Given the description of an element on the screen output the (x, y) to click on. 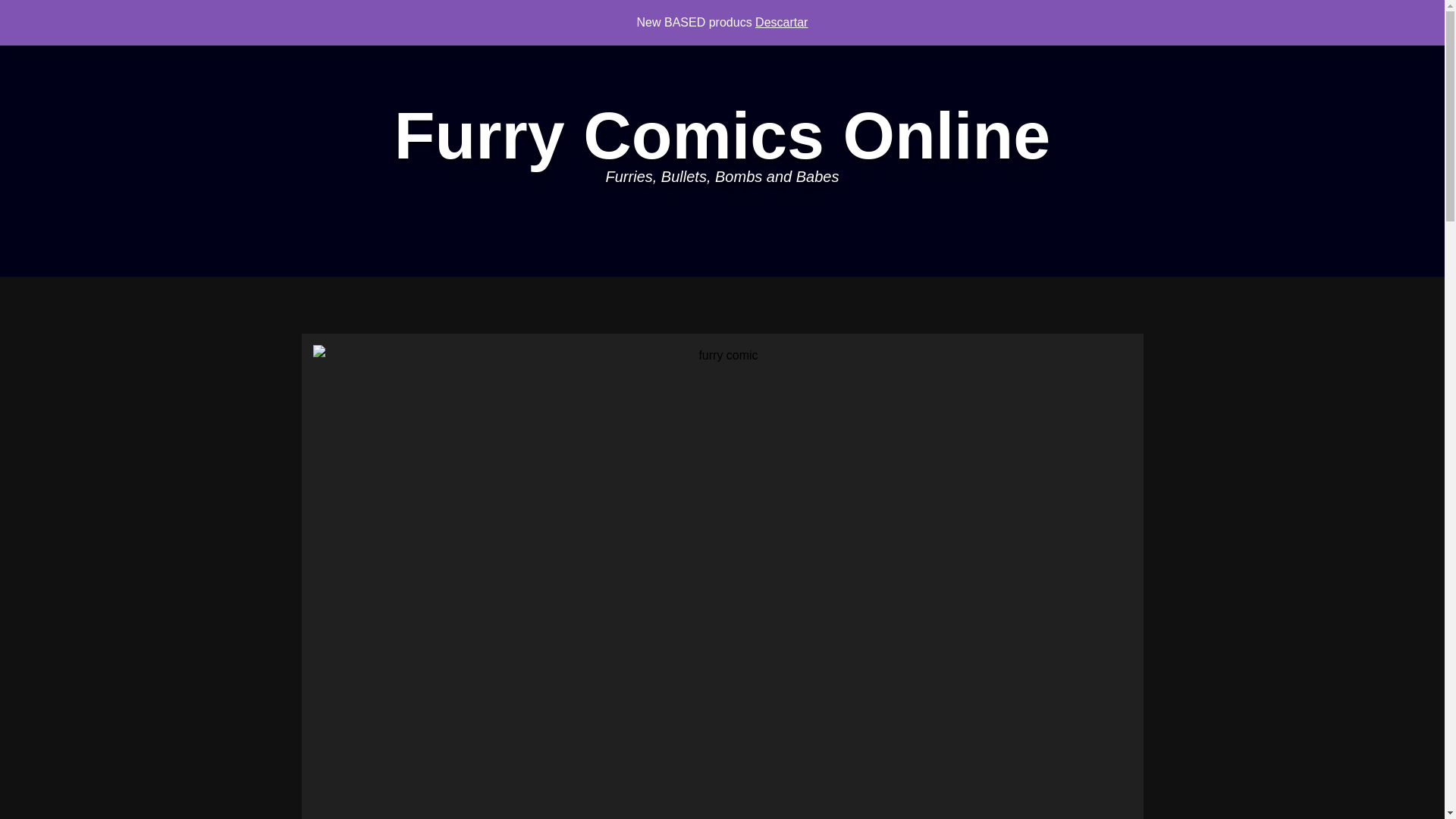
Site Map (350, 16)
Furry Comics List (257, 16)
Commissions (103, 16)
Shop (175, 16)
Shop (175, 16)
Commissions (103, 16)
Furry Comics List (257, 16)
Home (33, 16)
Home (33, 16)
